Given the description of an element on the screen output the (x, y) to click on. 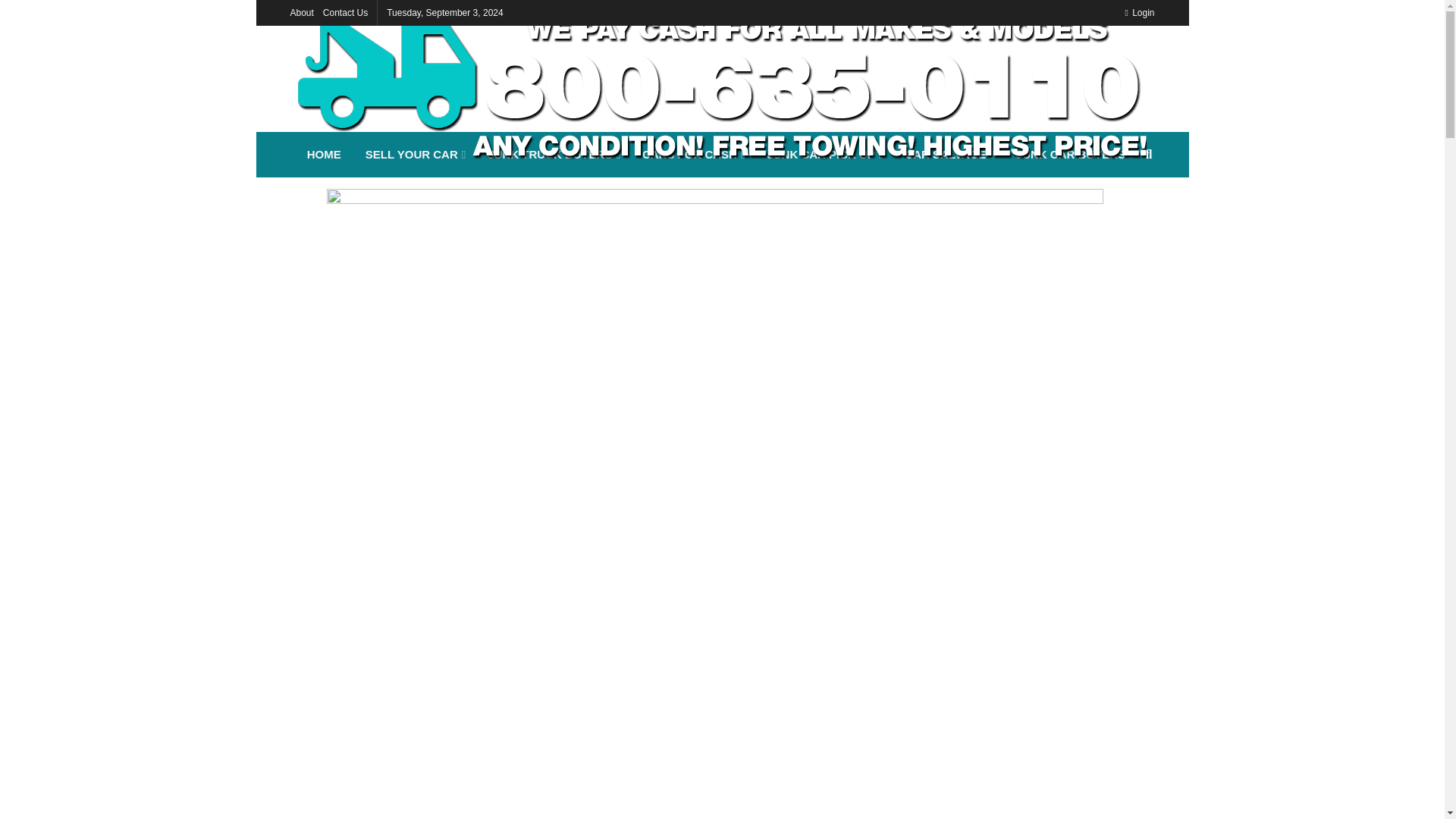
Contact Us (345, 12)
CARS FOR CASH (692, 154)
JUNK TRUCK BUYERS (553, 154)
SELL YOUR CAR (414, 154)
About (301, 12)
HOME (324, 154)
CAR SALVAGE (947, 154)
Login (1139, 12)
JUNK CAR BUYERS (1073, 154)
JUNK CAR PICK UP (823, 154)
